Given the description of an element on the screen output the (x, y) to click on. 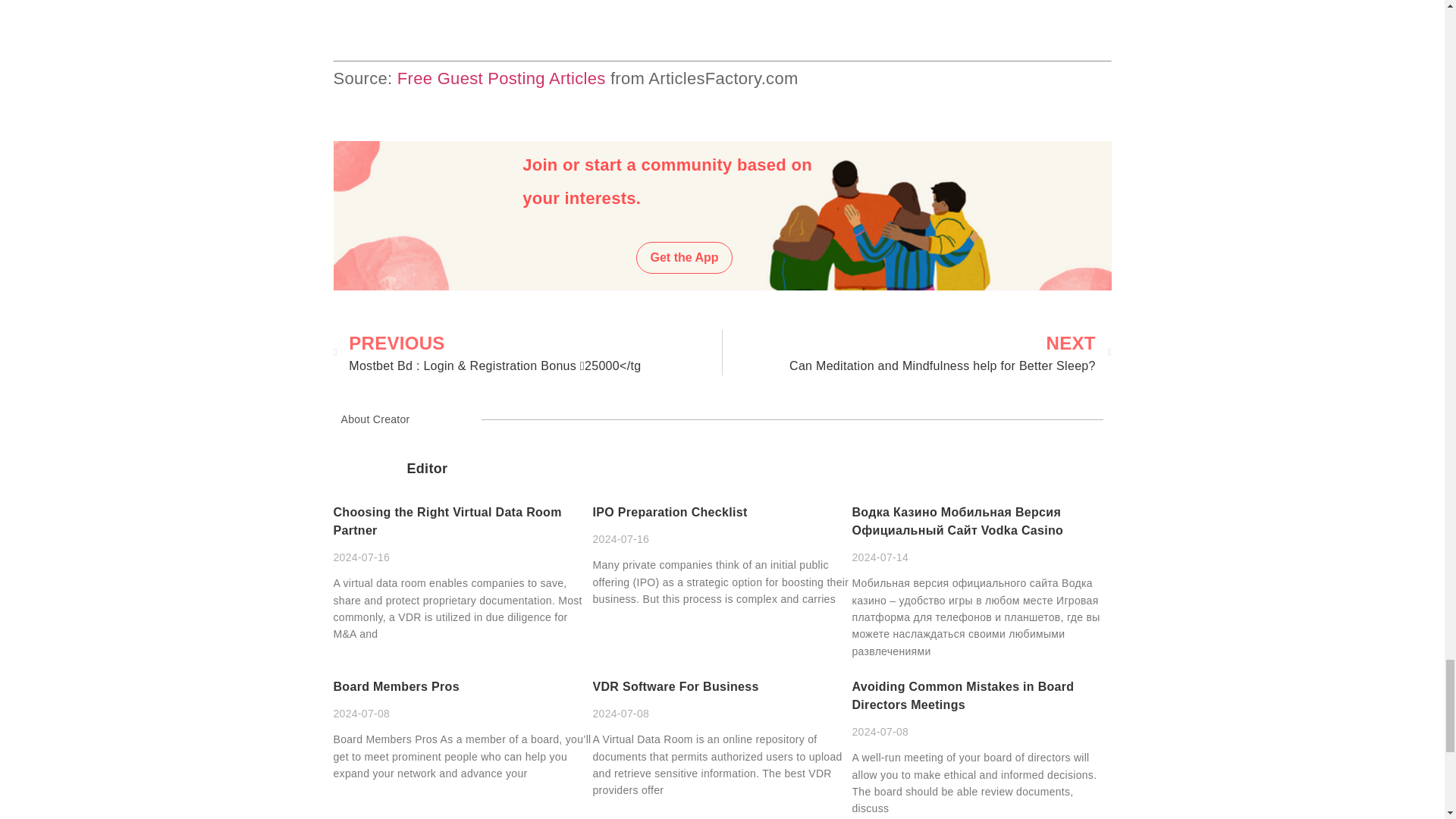
Free Guest Posting Articles (501, 77)
Get the App (917, 352)
Choosing the Right Virtual Data Room Partner (684, 257)
